Given the description of an element on the screen output the (x, y) to click on. 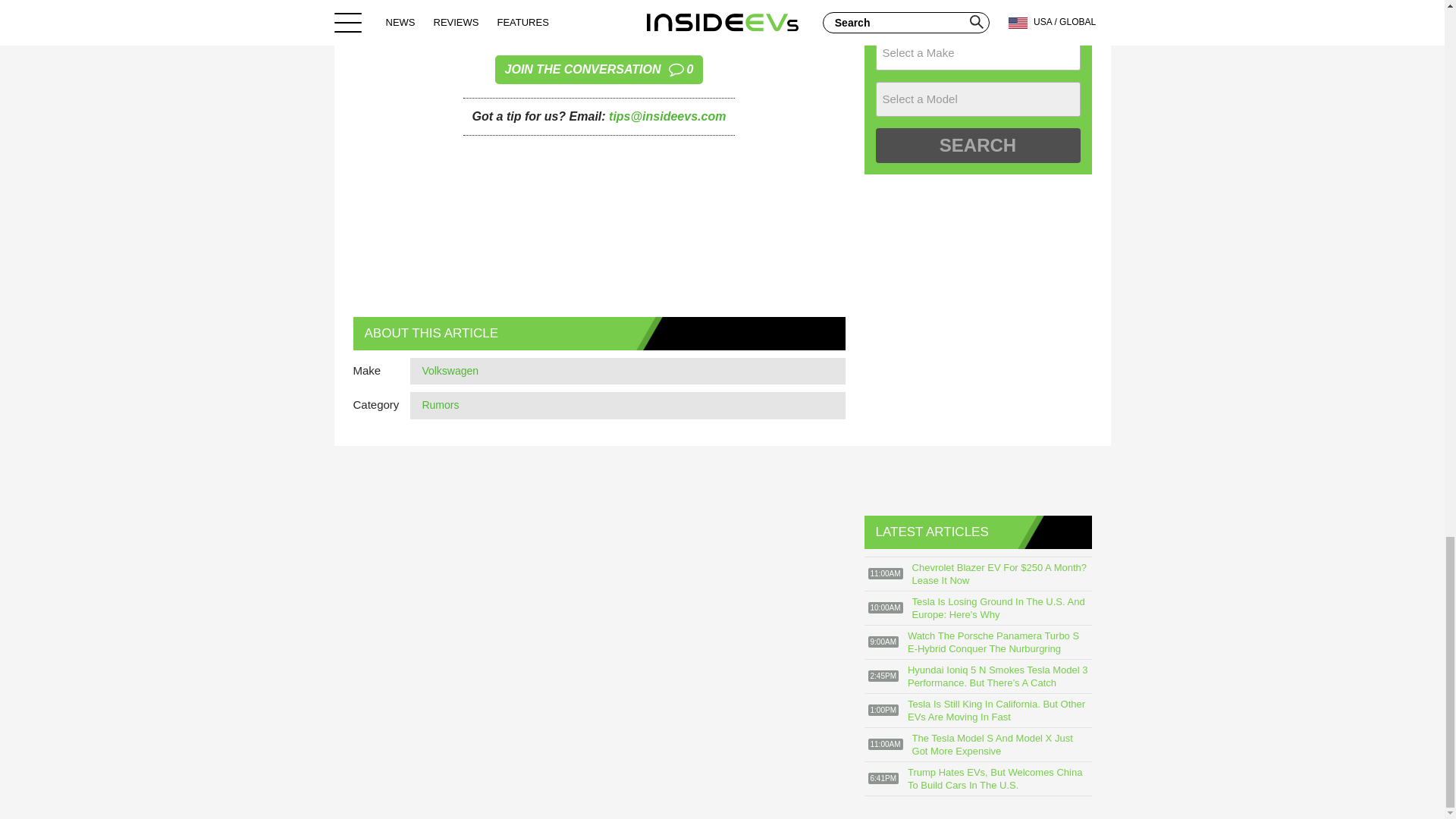
Search (599, 69)
